Given the description of an element on the screen output the (x, y) to click on. 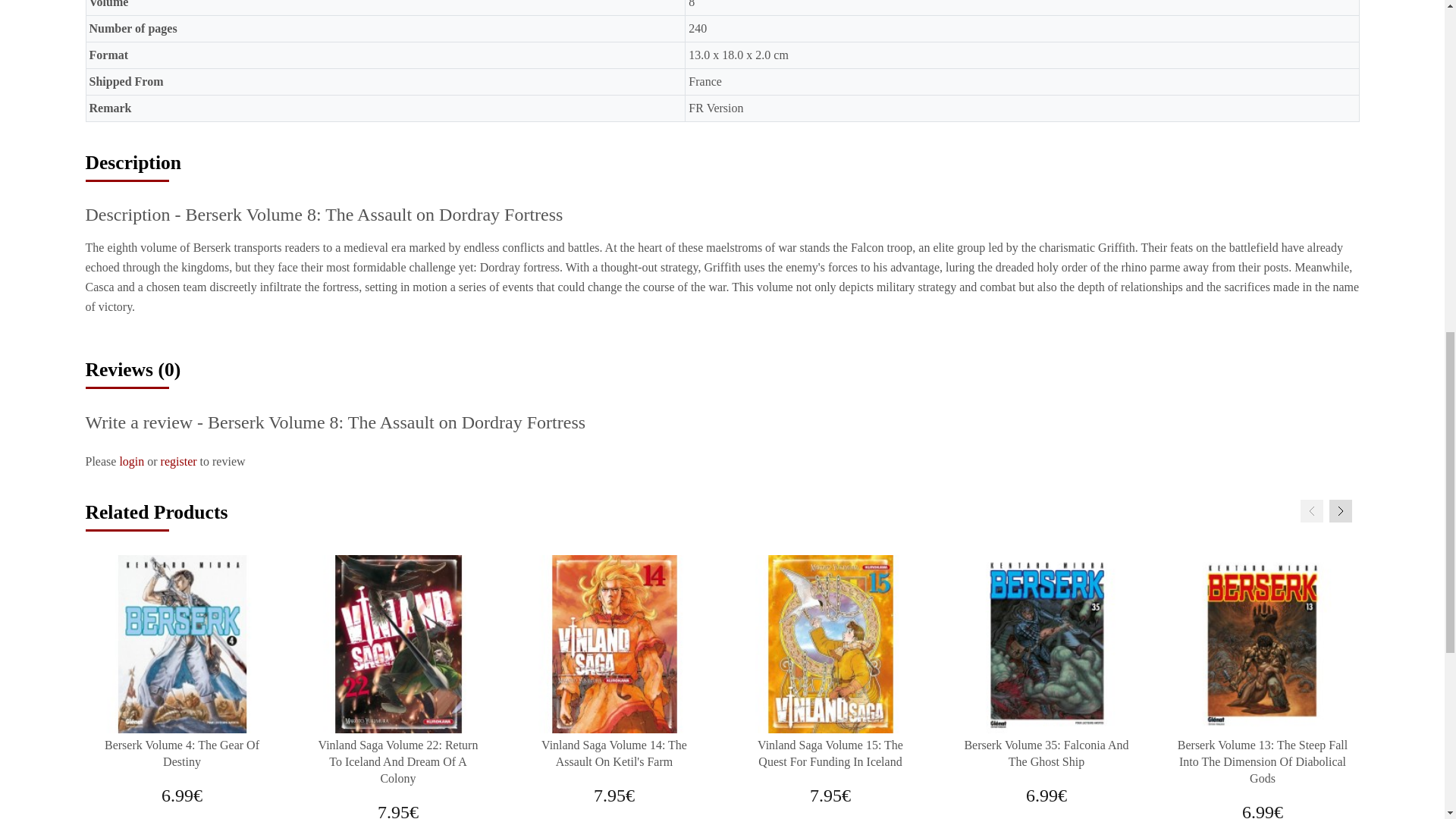
Vinland Saga Volume 15: The Quest for Funding in Iceland (830, 644)
Berserk Volume 4: The Gear of Destiny (181, 644)
Berserk Volume 35: Falconia and the Ghost Ship (1045, 644)
Vinland Saga Volume 14: The Assault on Ketil's Farm (613, 644)
